Given the description of an element on the screen output the (x, y) to click on. 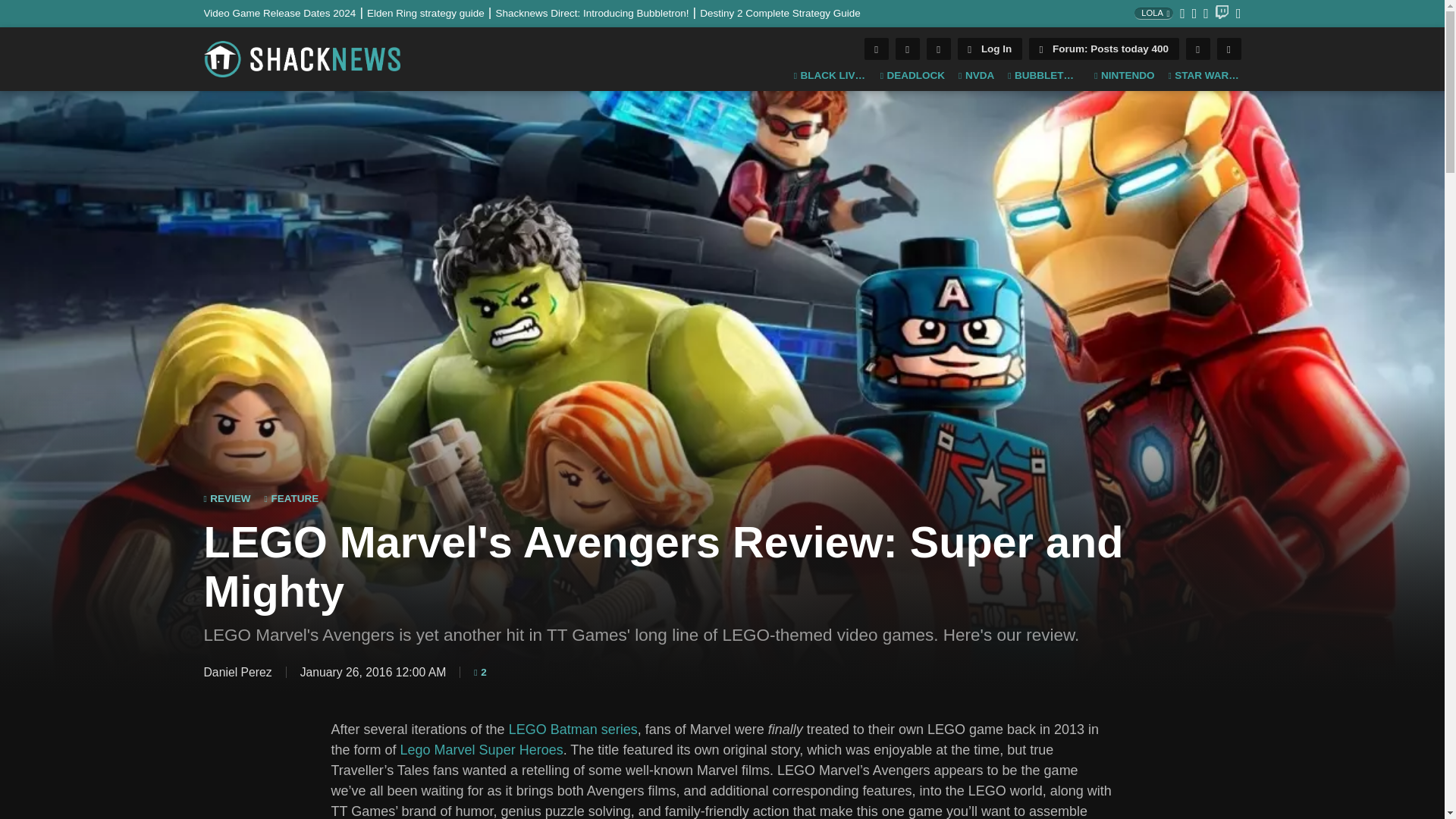
STAR WARS OUTLAWS (1203, 75)
REVIEW (226, 498)
Video Game Release Dates 2024 (284, 11)
DEADLOCK (912, 75)
NINTENDO (1124, 75)
Elden Ring strategy guide (430, 11)
BUBBLETRON (1043, 75)
NVDA (976, 75)
FEATURE (291, 498)
BLACK LIVES MATTER (829, 75)
